Given the description of an element on the screen output the (x, y) to click on. 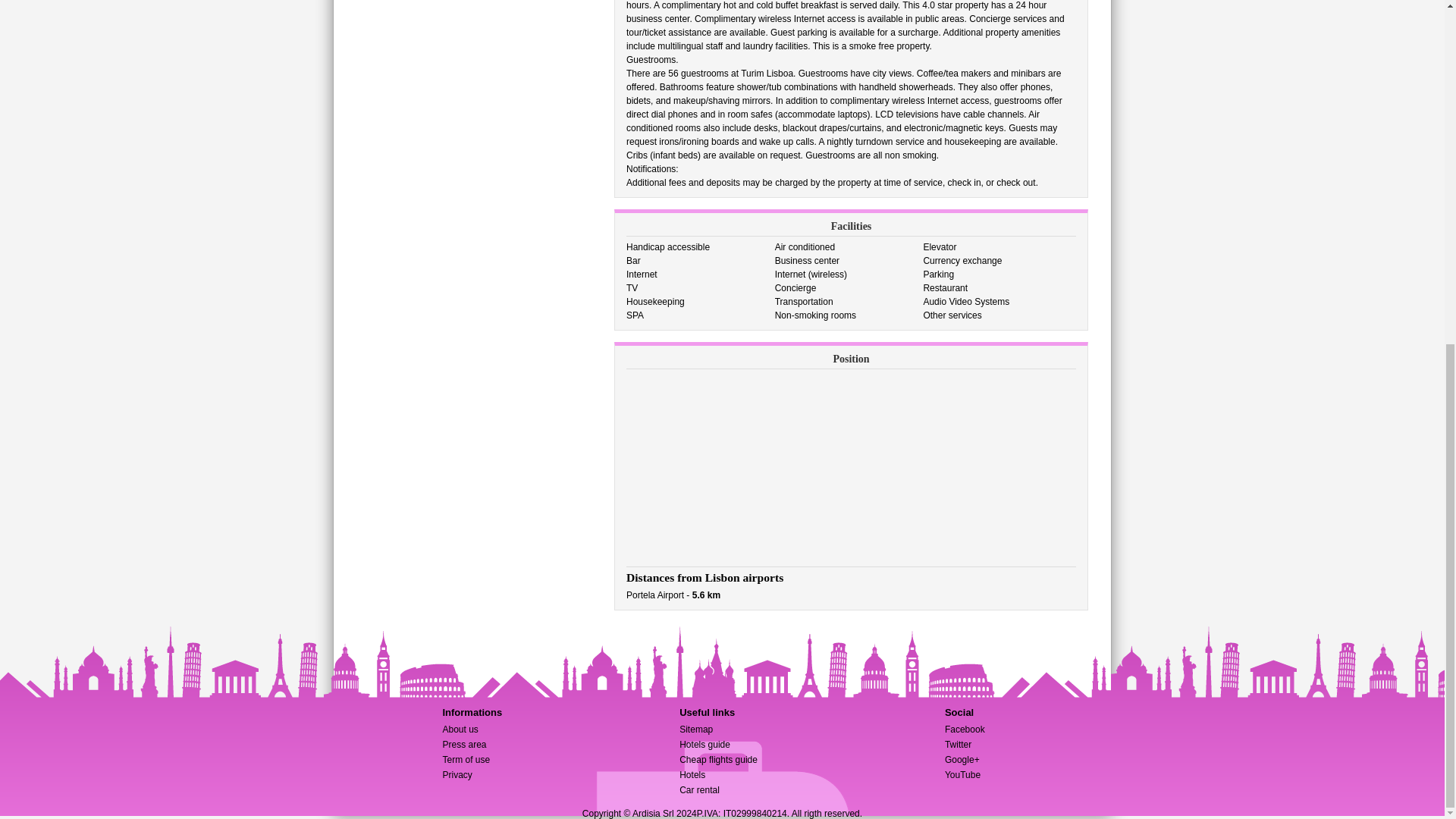
Term of use (465, 759)
Press area (464, 744)
Term of use (465, 759)
Twitter (957, 744)
Press area (464, 744)
Car rental (699, 789)
Hotels (691, 774)
Cheap flights guide (718, 759)
Privacy (456, 774)
About us (459, 728)
